Given the description of an element on the screen output the (x, y) to click on. 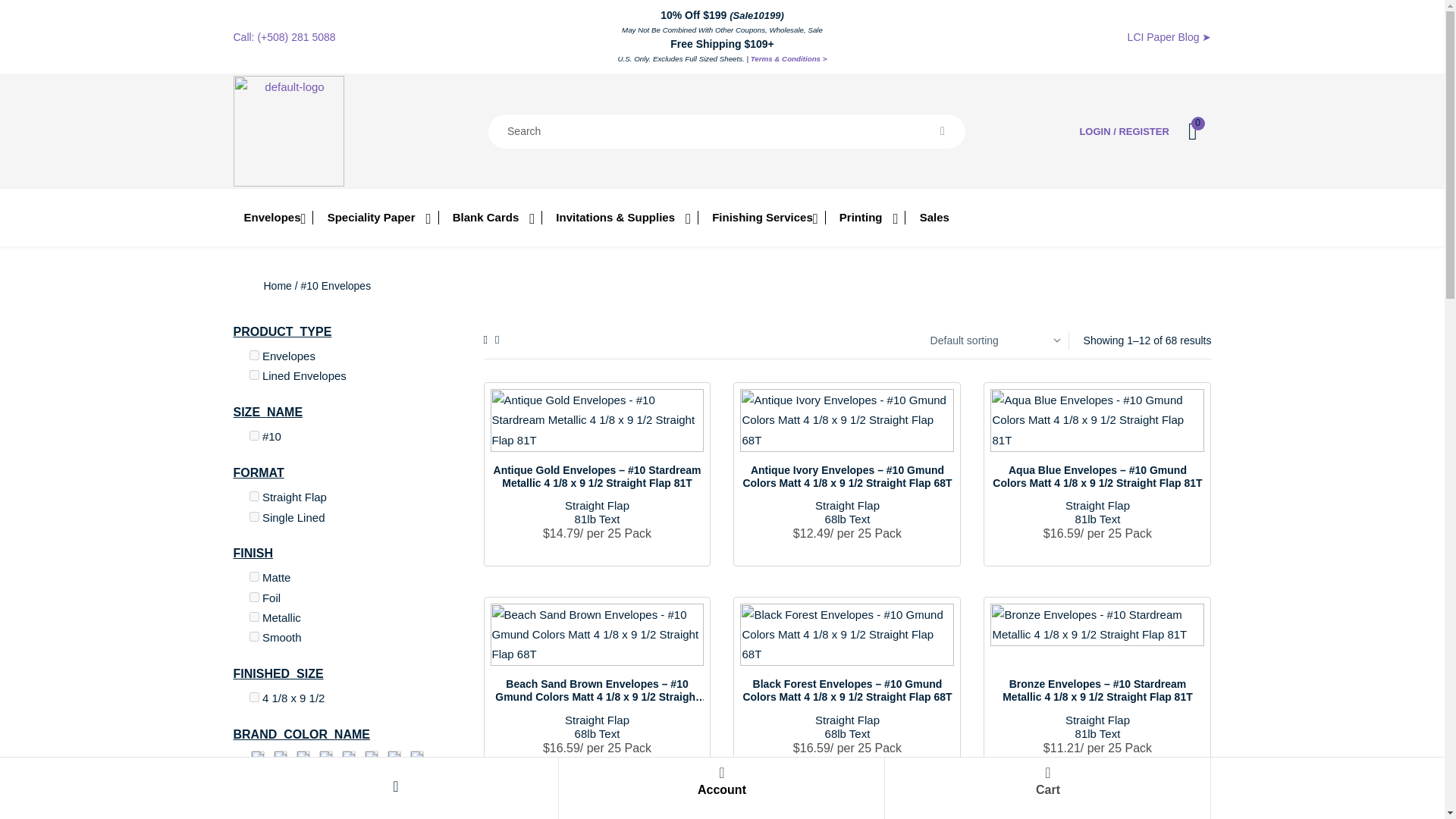
Envelopes (253, 355)
Single Lined (253, 515)
Smooth (253, 636)
Foil (253, 596)
Metallic (253, 616)
Matte (253, 576)
Lined Envelopes (253, 375)
Envelopes (273, 217)
Search (942, 130)
Straight Flap (253, 496)
